Given the description of an element on the screen output the (x, y) to click on. 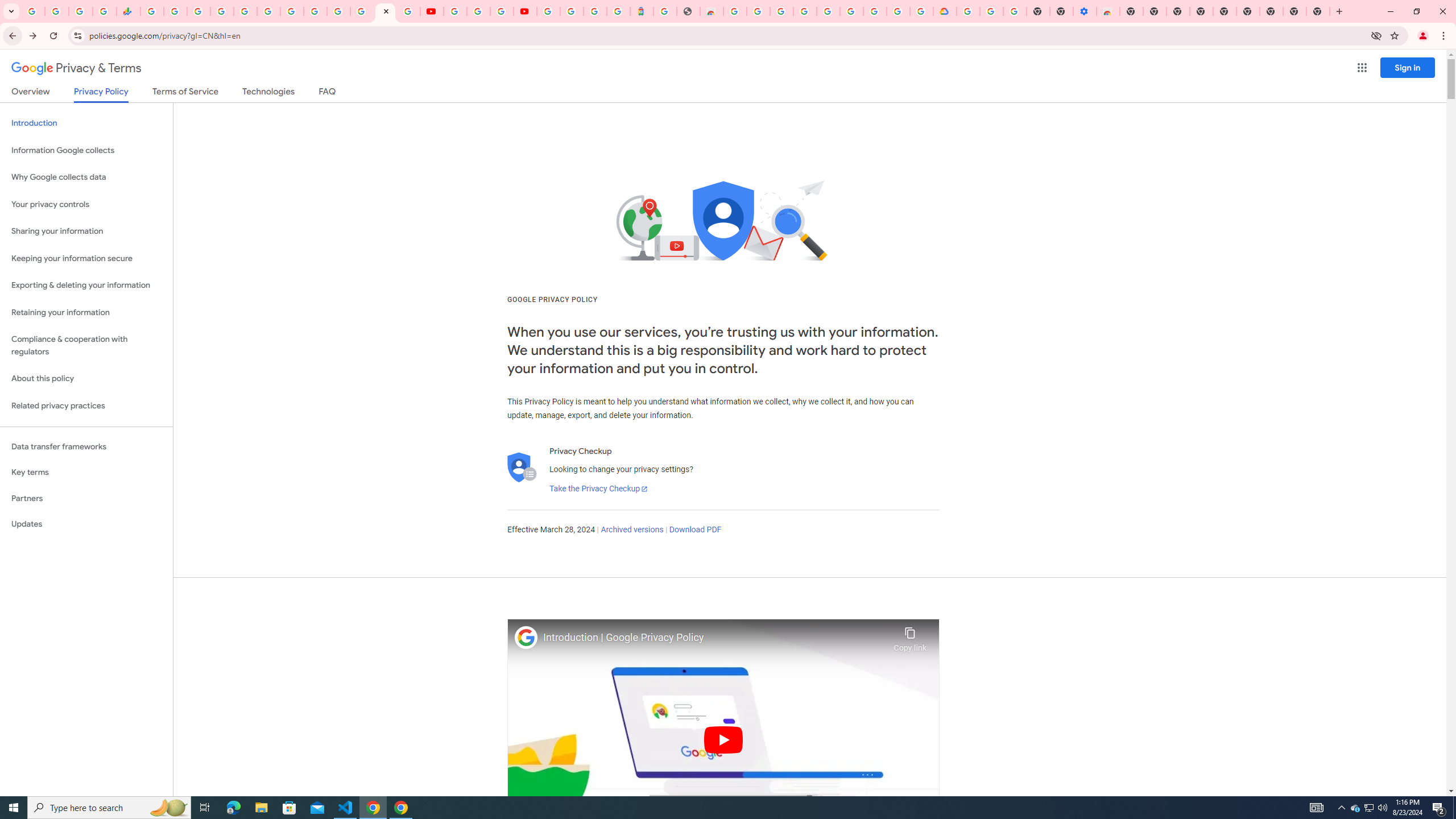
Exporting & deleting your information (86, 284)
Chrome Web Store - Household (711, 11)
Sign in - Google Accounts (338, 11)
Google Account Help (992, 11)
Key terms (86, 472)
Introduction (86, 122)
Create your Google Account (757, 11)
Sharing your information (86, 230)
Privacy & Terms (76, 68)
Sign in - Google Accounts (968, 11)
Photo image of Google (526, 636)
